Given the description of an element on the screen output the (x, y) to click on. 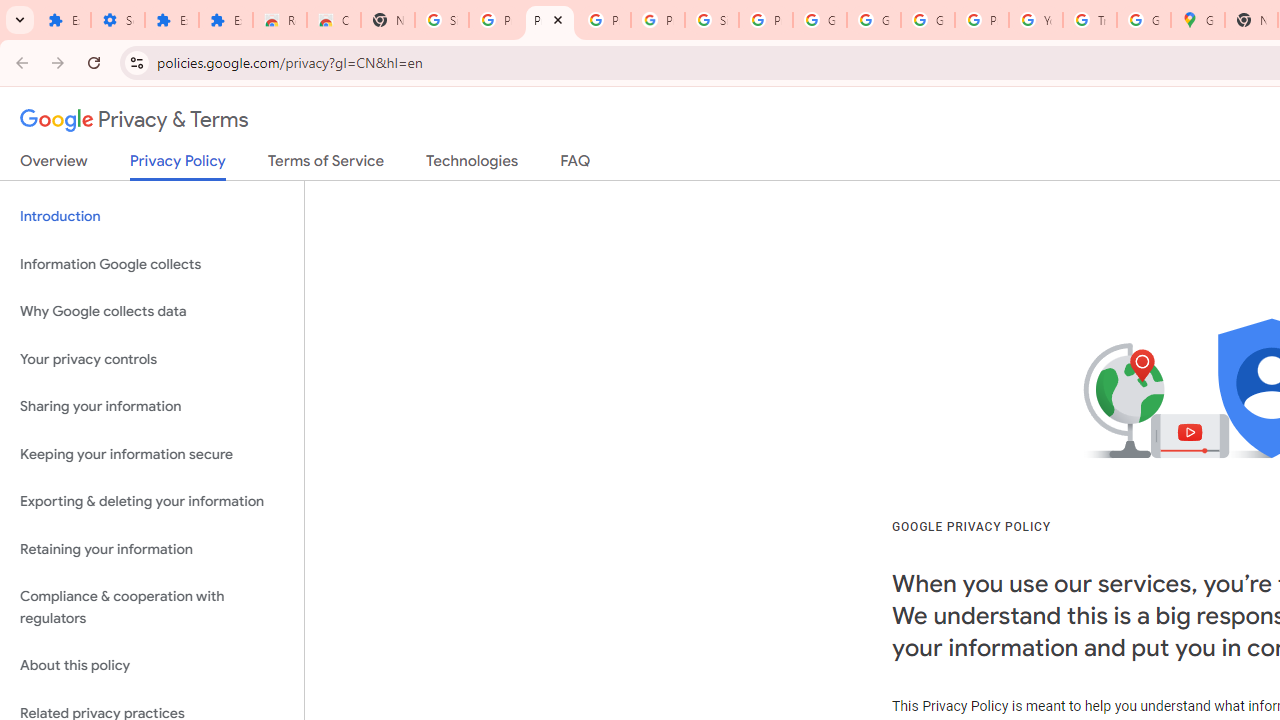
Reviews: Helix Fruit Jump Arcade Game (280, 20)
